Given the description of an element on the screen output the (x, y) to click on. 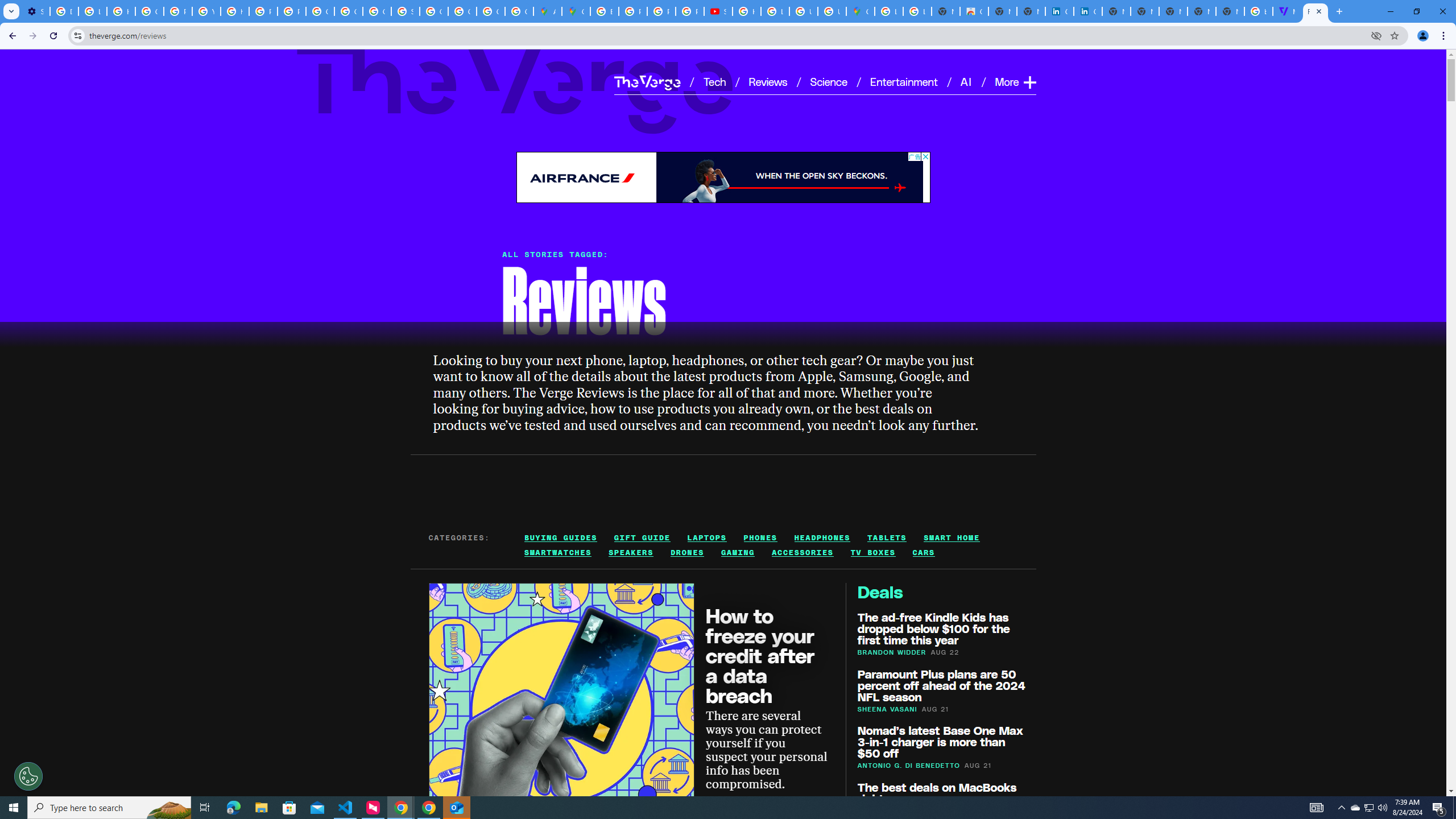
Cookie Policy | LinkedIn (1088, 11)
Google Maps (575, 11)
The Verge homepage The Verge (646, 81)
DRONES (687, 552)
Privacy Help Center - Policies Help (661, 11)
ANTONIO G. DI BENEDETTO (908, 765)
